Given the description of an element on the screen output the (x, y) to click on. 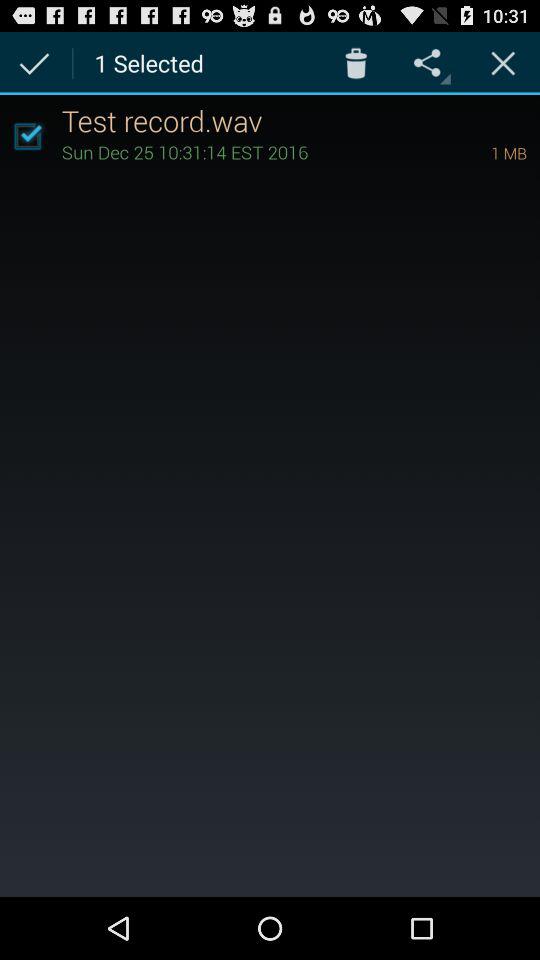
press the test record.wav icon (300, 120)
